Given the description of an element on the screen output the (x, y) to click on. 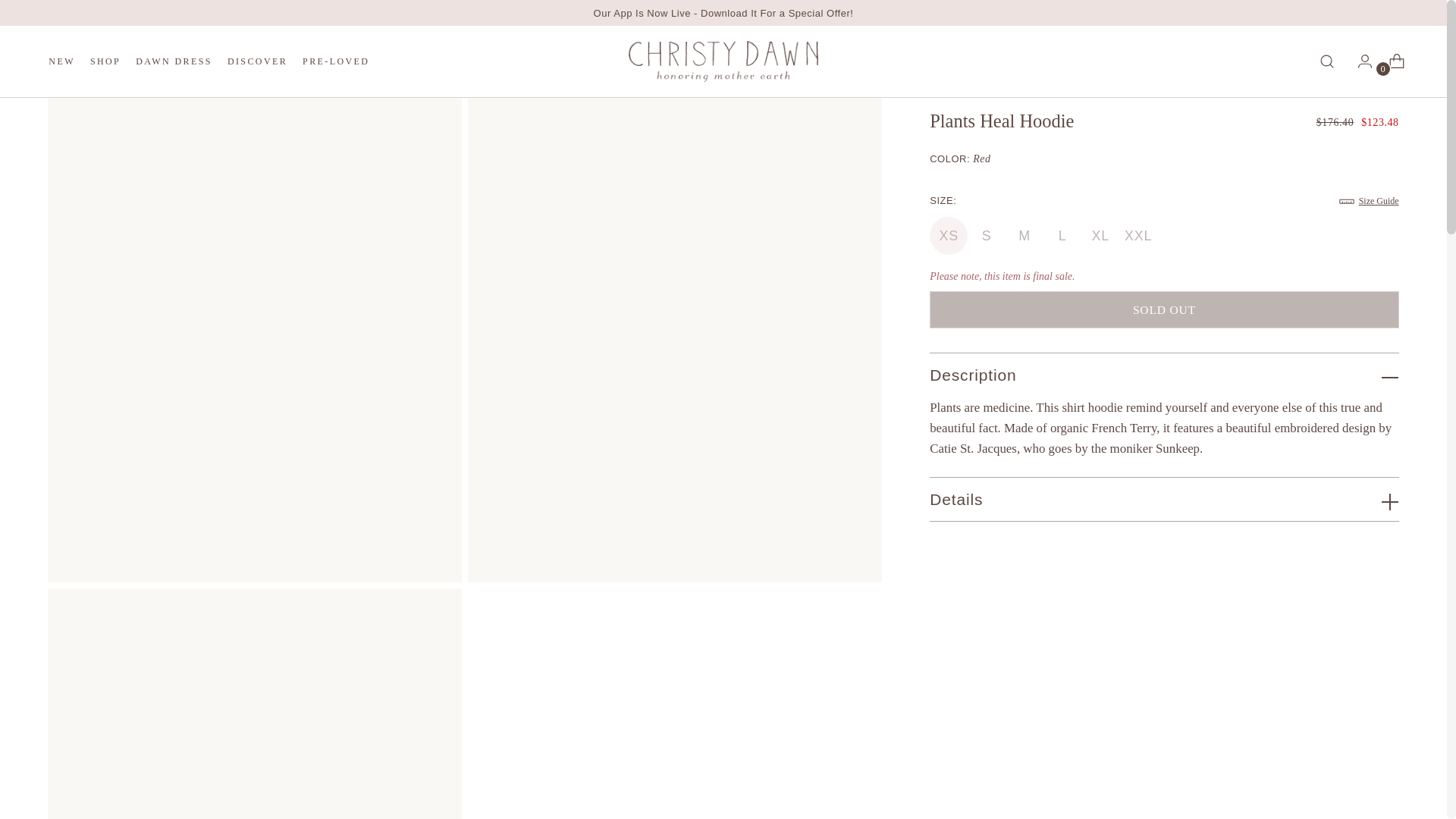
Our App Is Now Live - Download It For a Special Offer! (723, 12)
DISCOVER (208, 61)
See more Red (256, 61)
SHOP (981, 158)
DAWN DRESS (105, 61)
PRE-LOVED (173, 61)
